Given the description of an element on the screen output the (x, y) to click on. 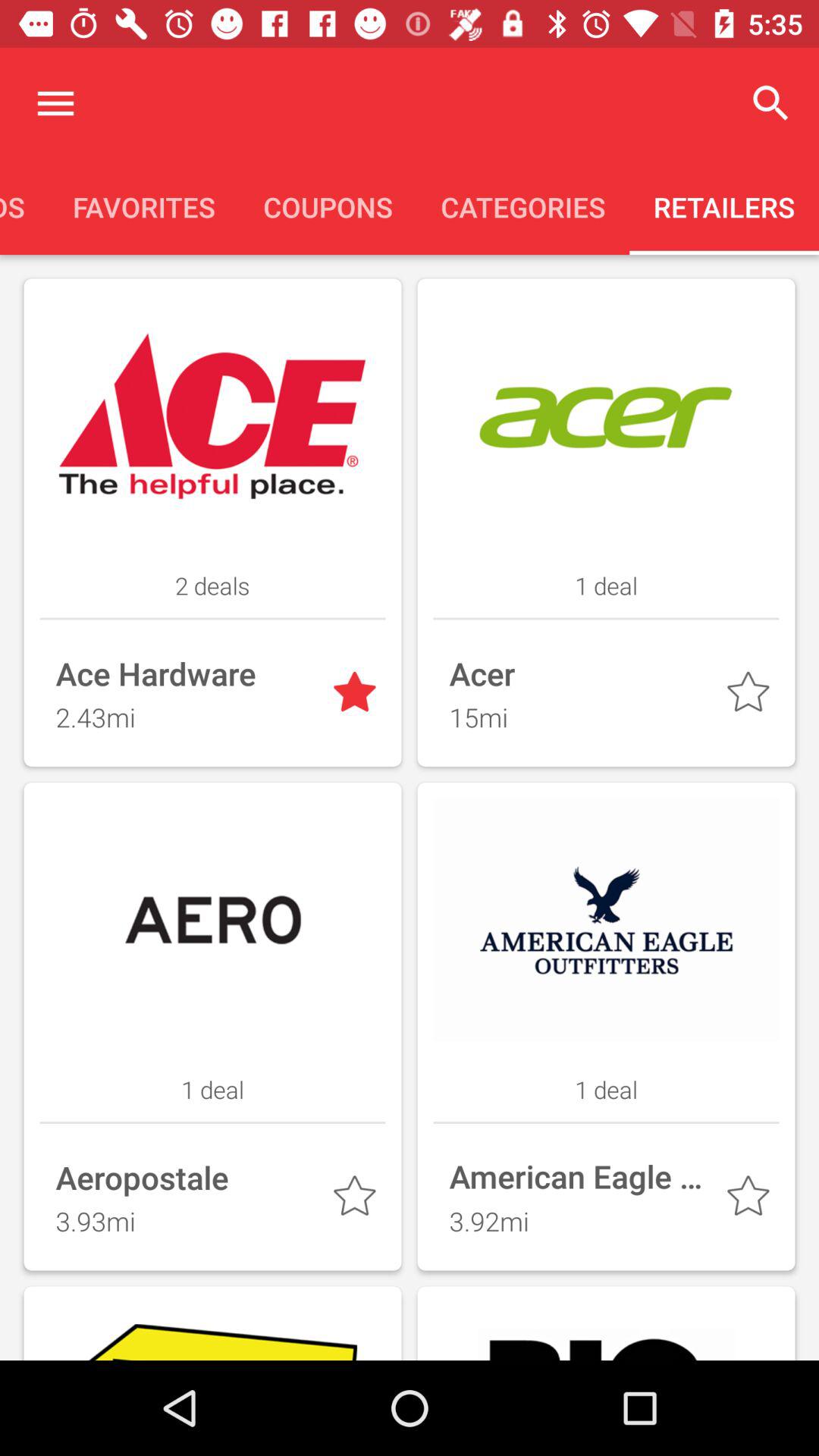
select favorite (751, 695)
